Given the description of an element on the screen output the (x, y) to click on. 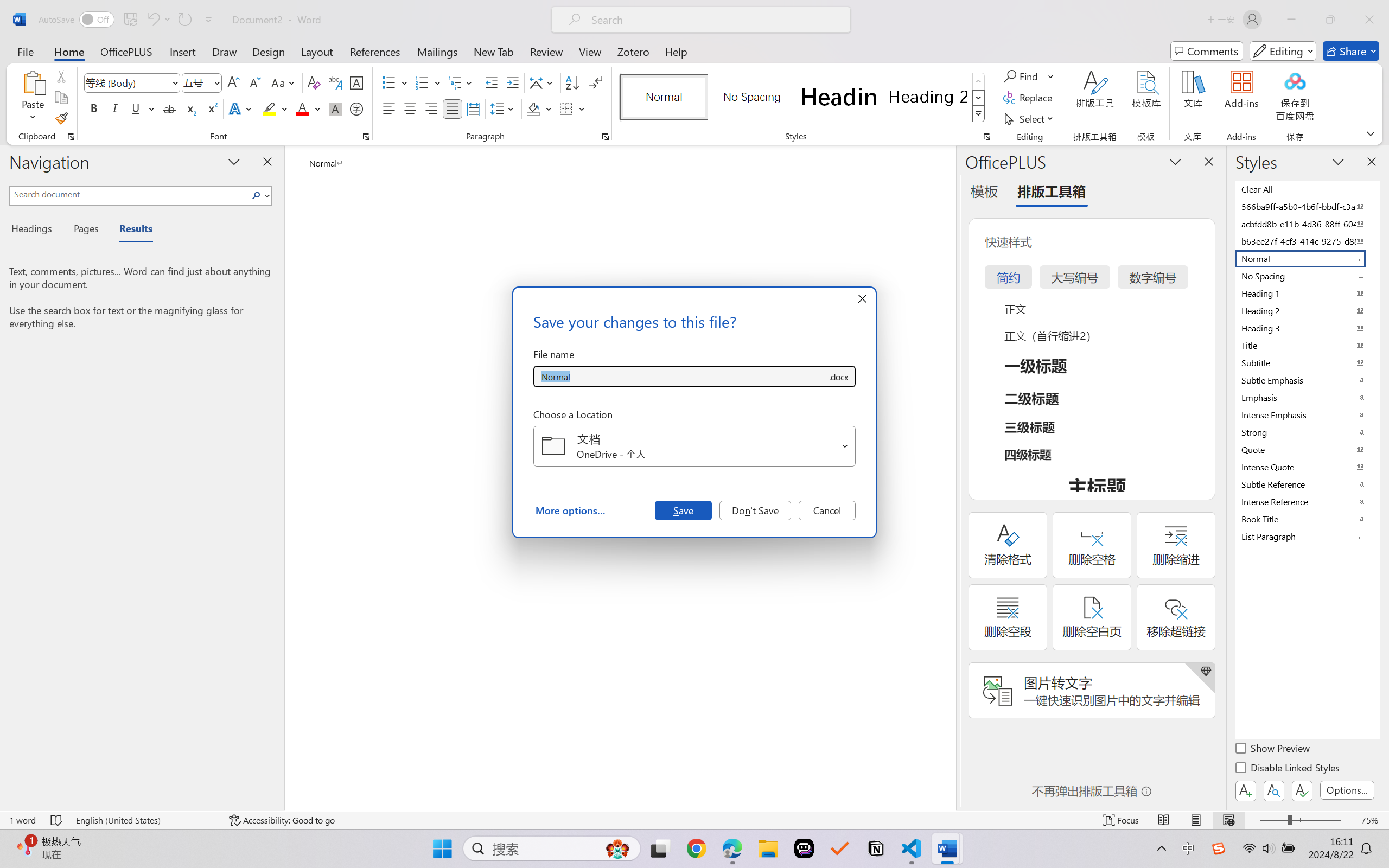
Text Effects and Typography (241, 108)
Text Highlight Color Yellow (269, 108)
Sort... (571, 82)
Center (409, 108)
Mode (1283, 50)
Bold (94, 108)
Share (1350, 51)
Justify (452, 108)
Superscript (210, 108)
Subtle Emphasis (1306, 379)
AutoSave (76, 19)
